Given the description of an element on the screen output the (x, y) to click on. 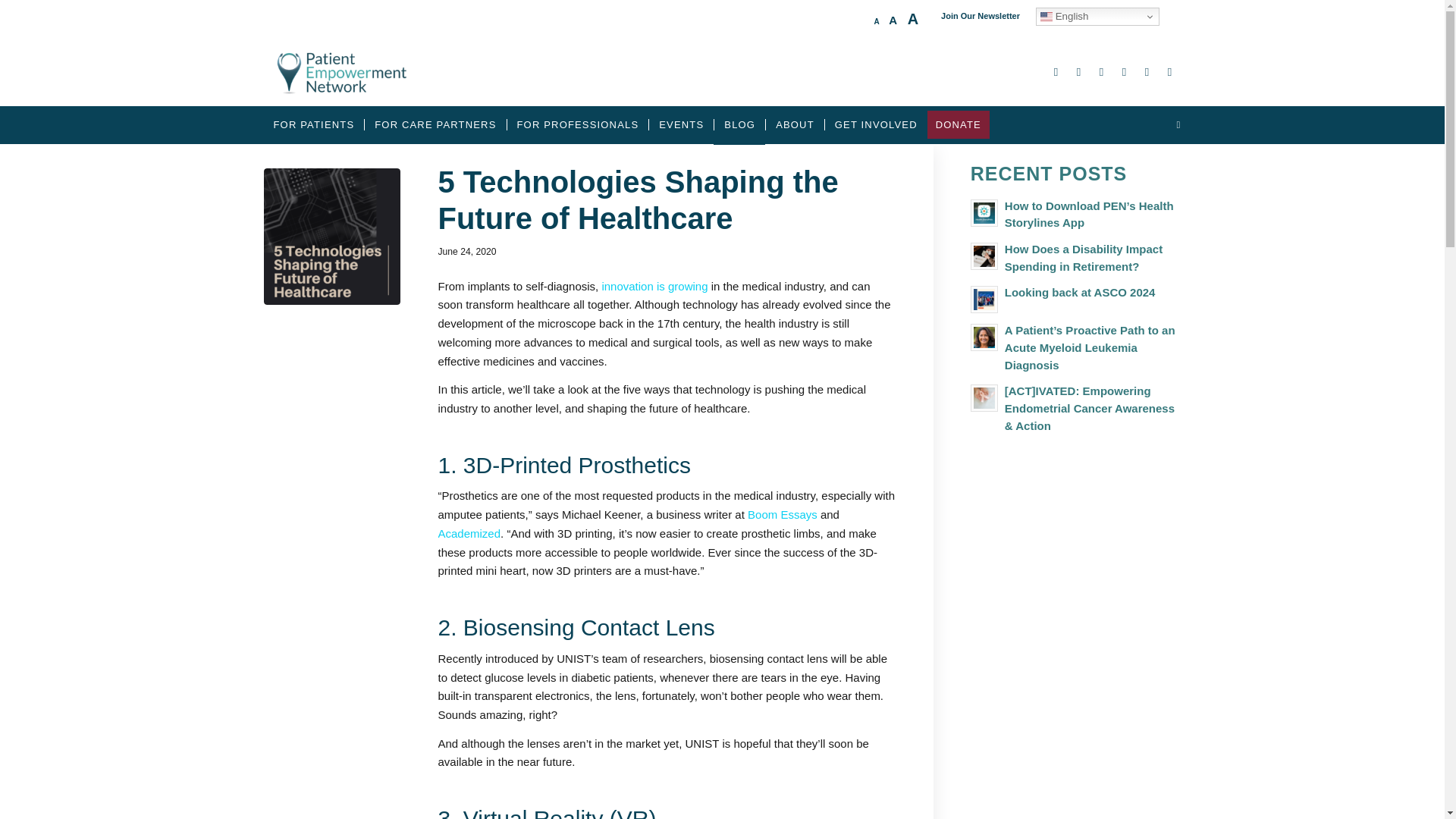
Join Our Newsletter (980, 15)
